Given the description of an element on the screen output the (x, y) to click on. 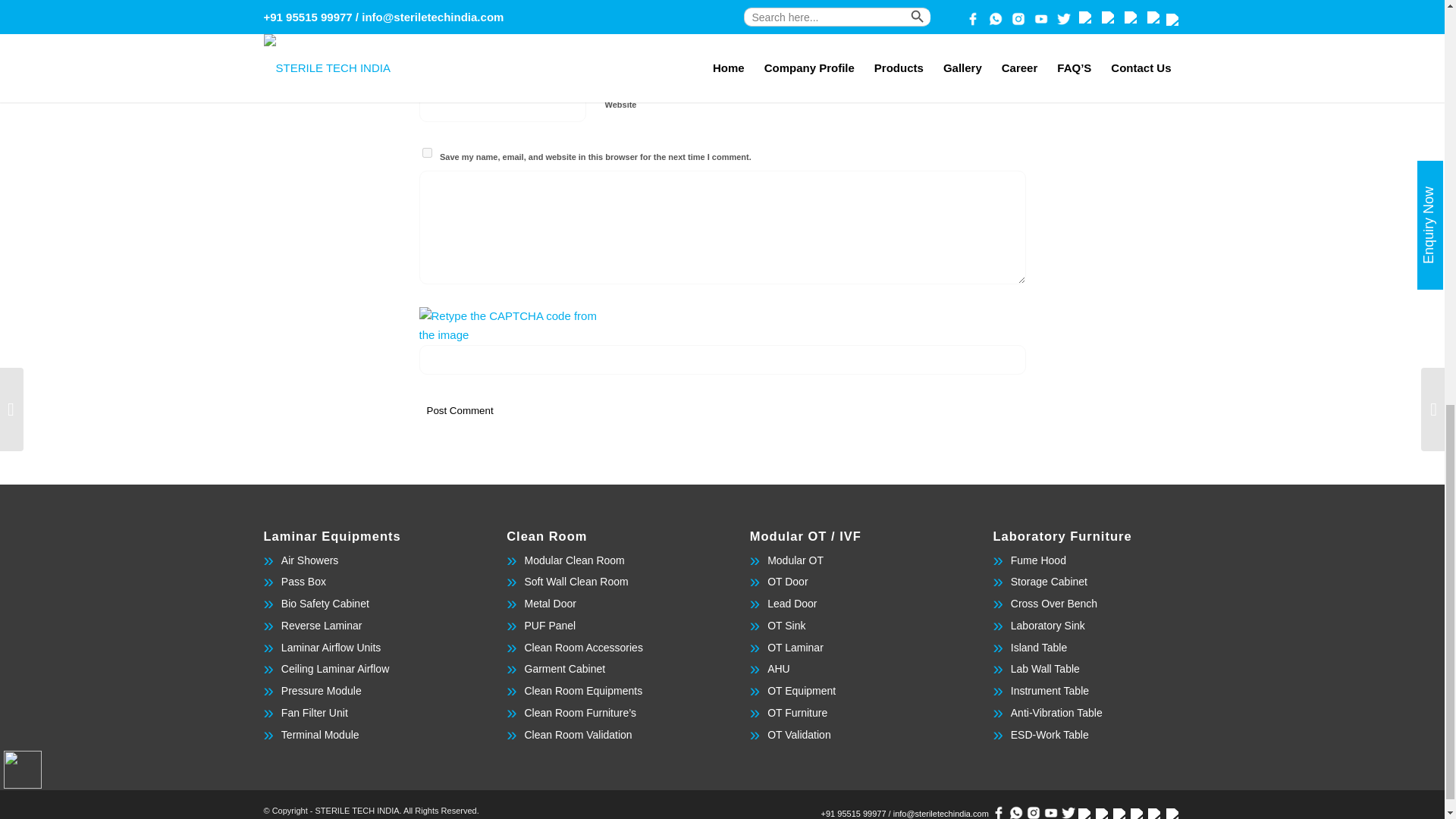
What is the WordPress CAPTCHA Plugin? (507, 325)
yes (426, 153)
Post Comment (459, 410)
